Given the description of an element on the screen output the (x, y) to click on. 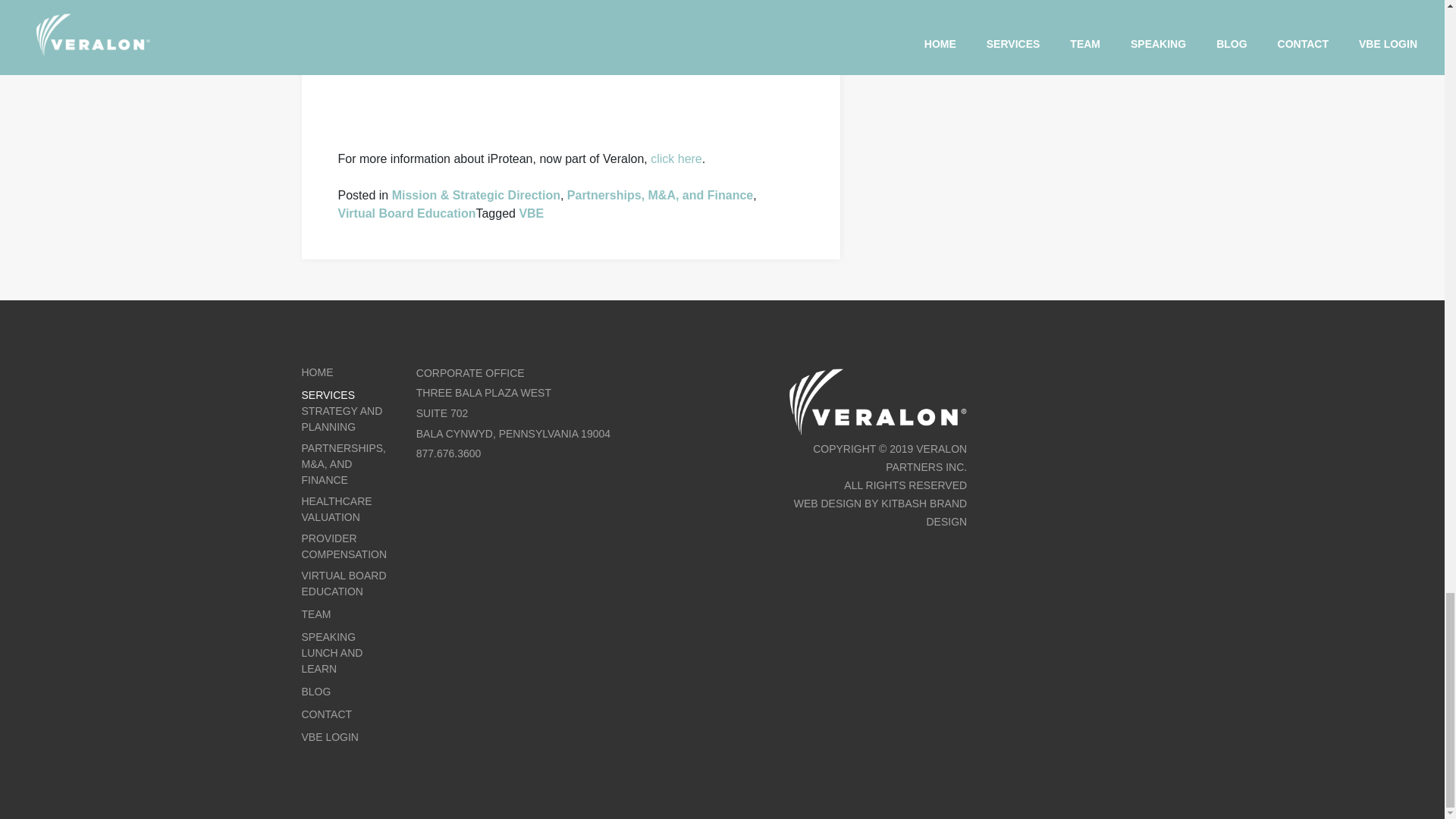
Virtual Board Education (406, 213)
VBE (530, 213)
click here (675, 158)
click here (688, 49)
